Given the description of an element on the screen output the (x, y) to click on. 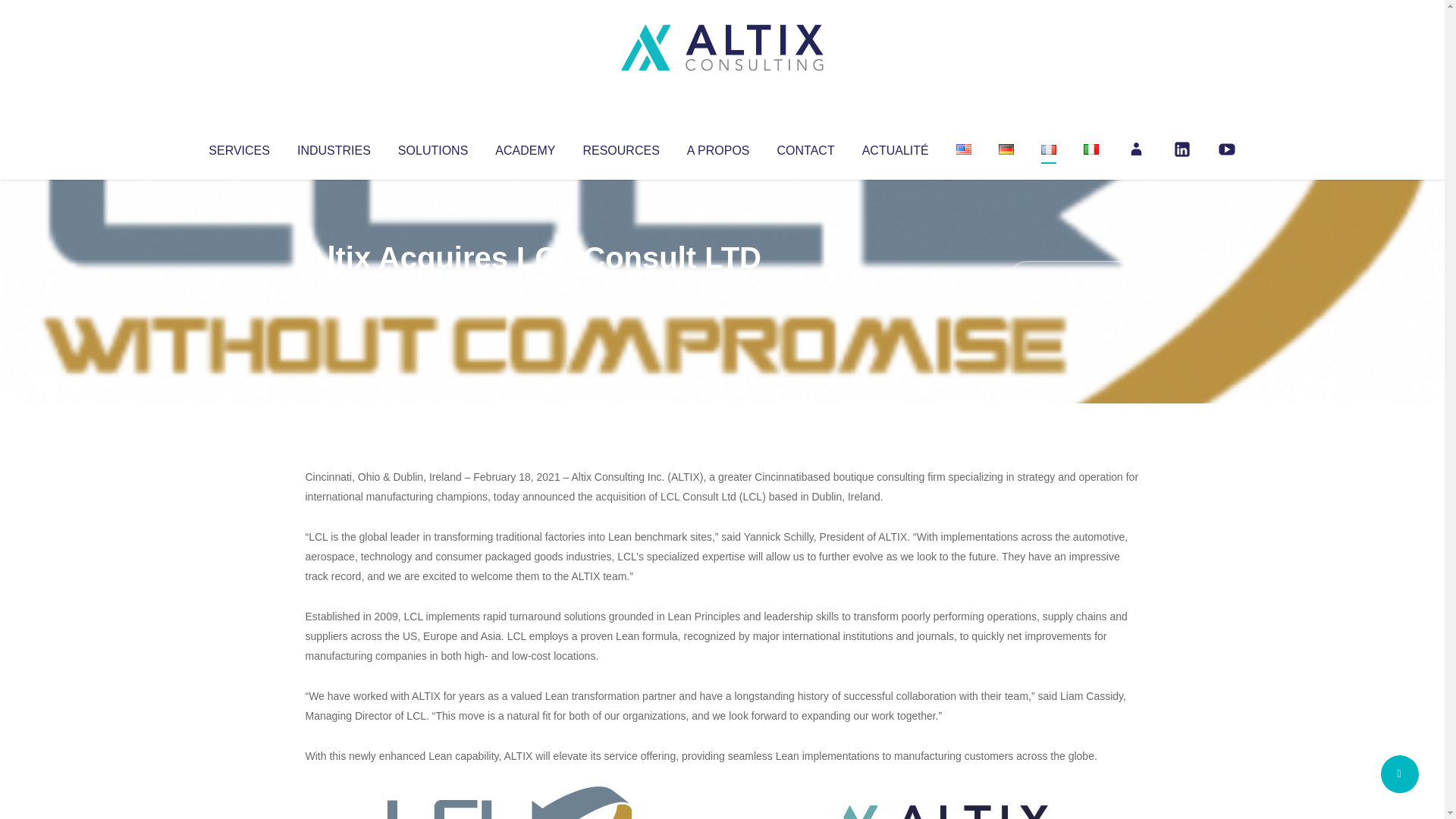
INDUSTRIES (334, 146)
SERVICES (238, 146)
Altix (333, 287)
Articles par Altix (333, 287)
A PROPOS (718, 146)
RESOURCES (620, 146)
SOLUTIONS (432, 146)
No Comments (1073, 278)
Uncategorized (530, 287)
ACADEMY (524, 146)
